Given the description of an element on the screen output the (x, y) to click on. 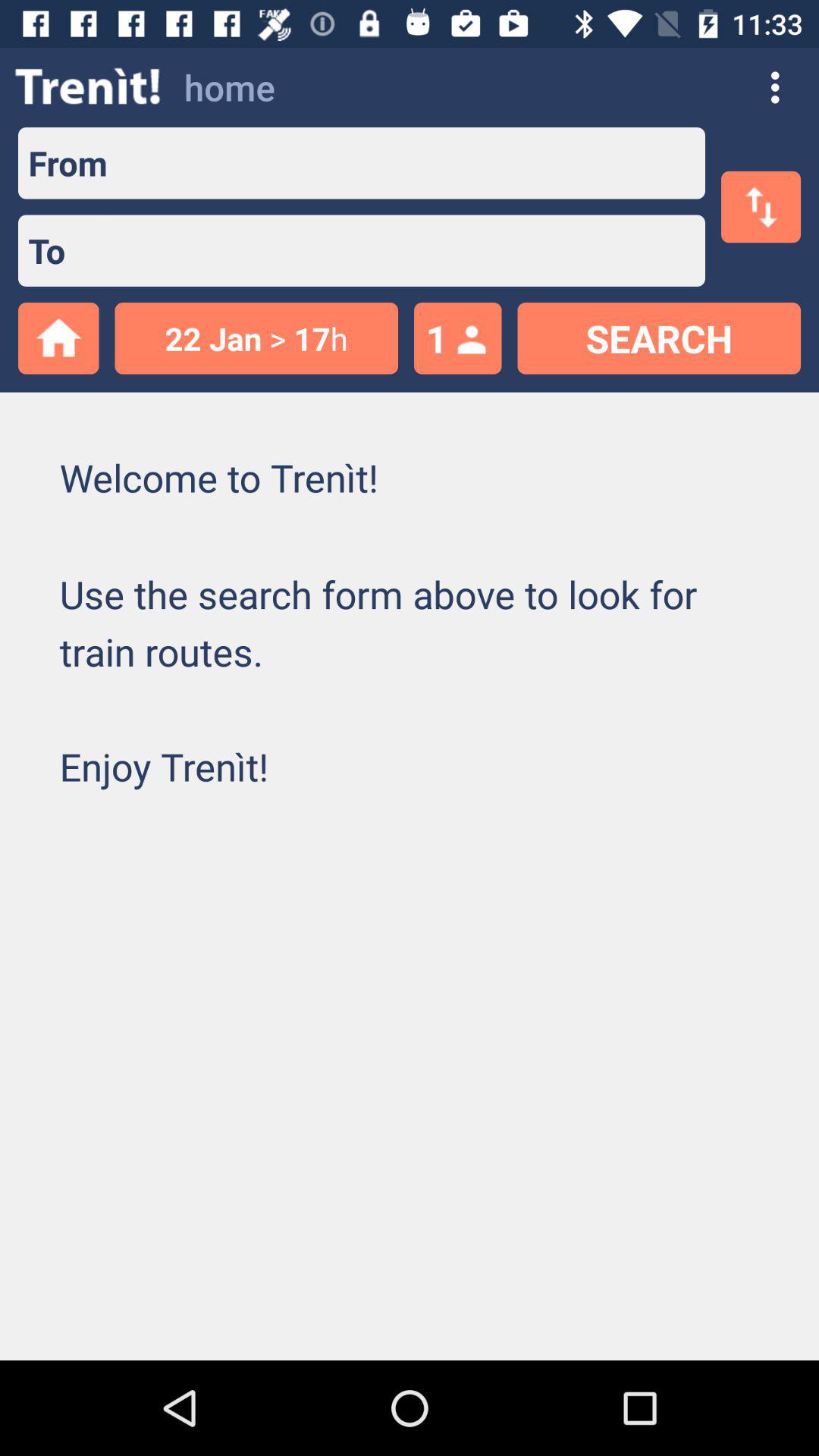
where to start from (406, 163)
